Given the description of an element on the screen output the (x, y) to click on. 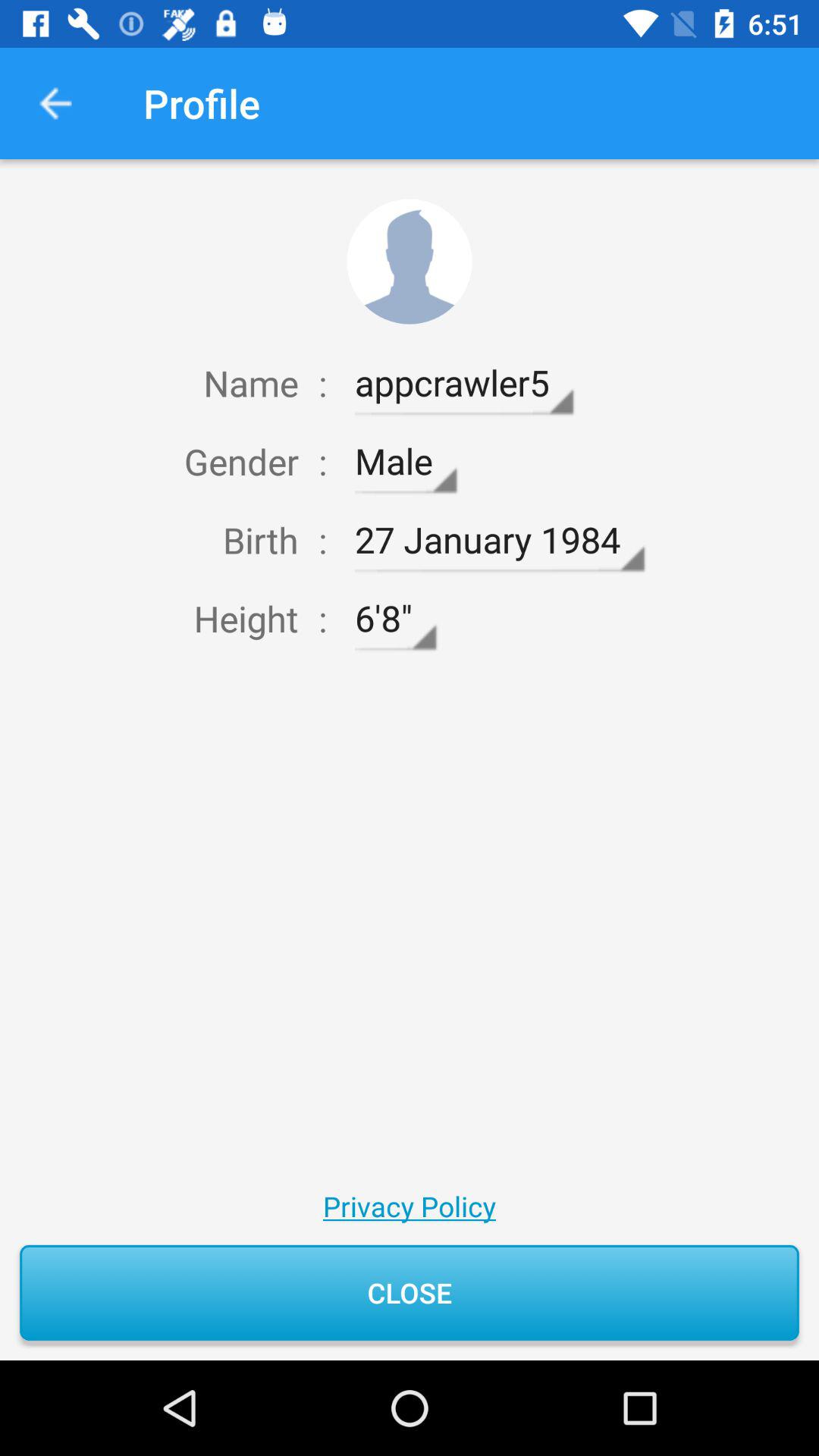
click the icon next to the : icon (395, 618)
